Given the description of an element on the screen output the (x, y) to click on. 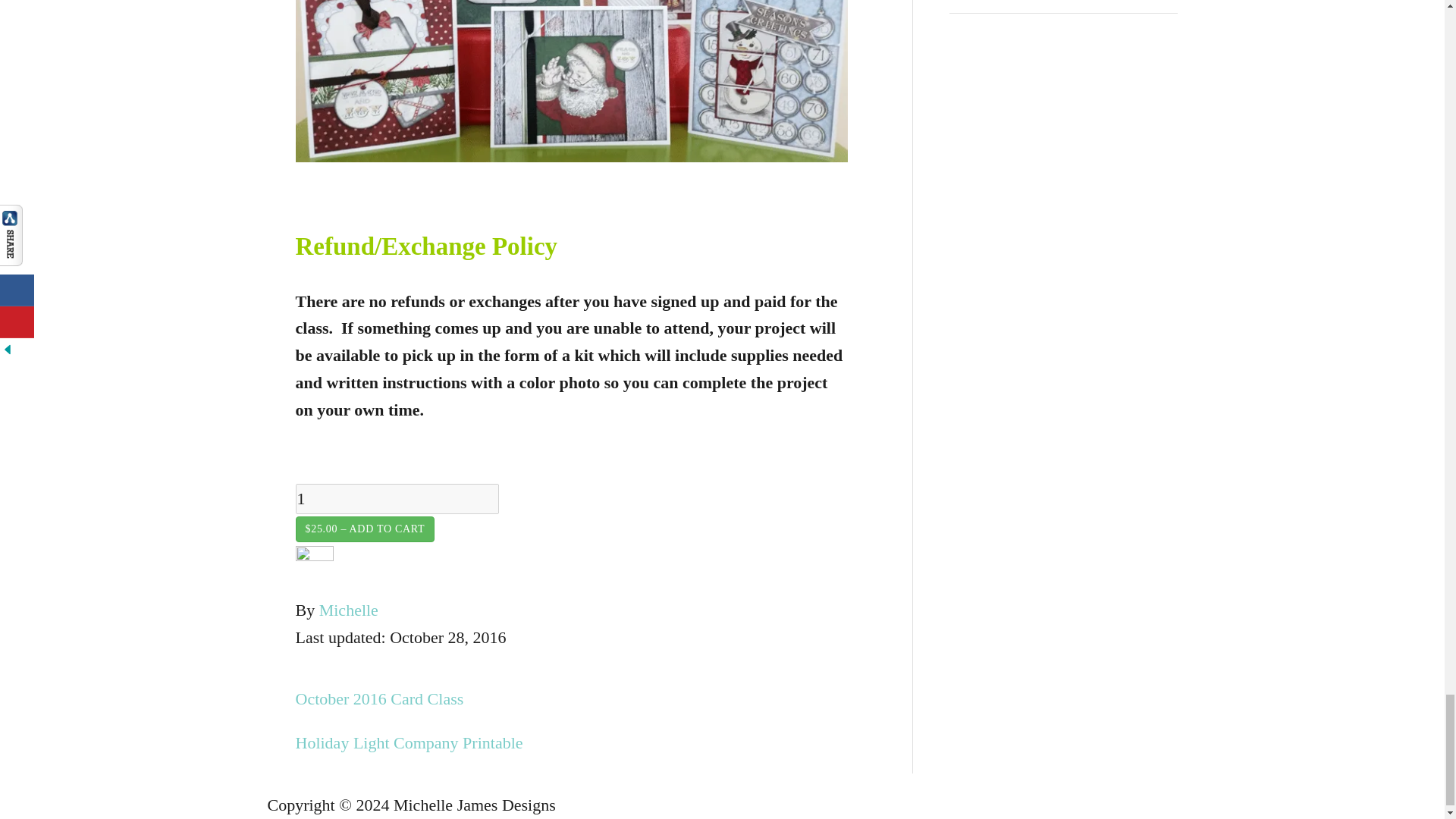
Holiday Light Company Printable (571, 742)
October 2016 Card Class (571, 698)
Michelle (348, 609)
1 (397, 499)
